Given the description of an element on the screen output the (x, y) to click on. 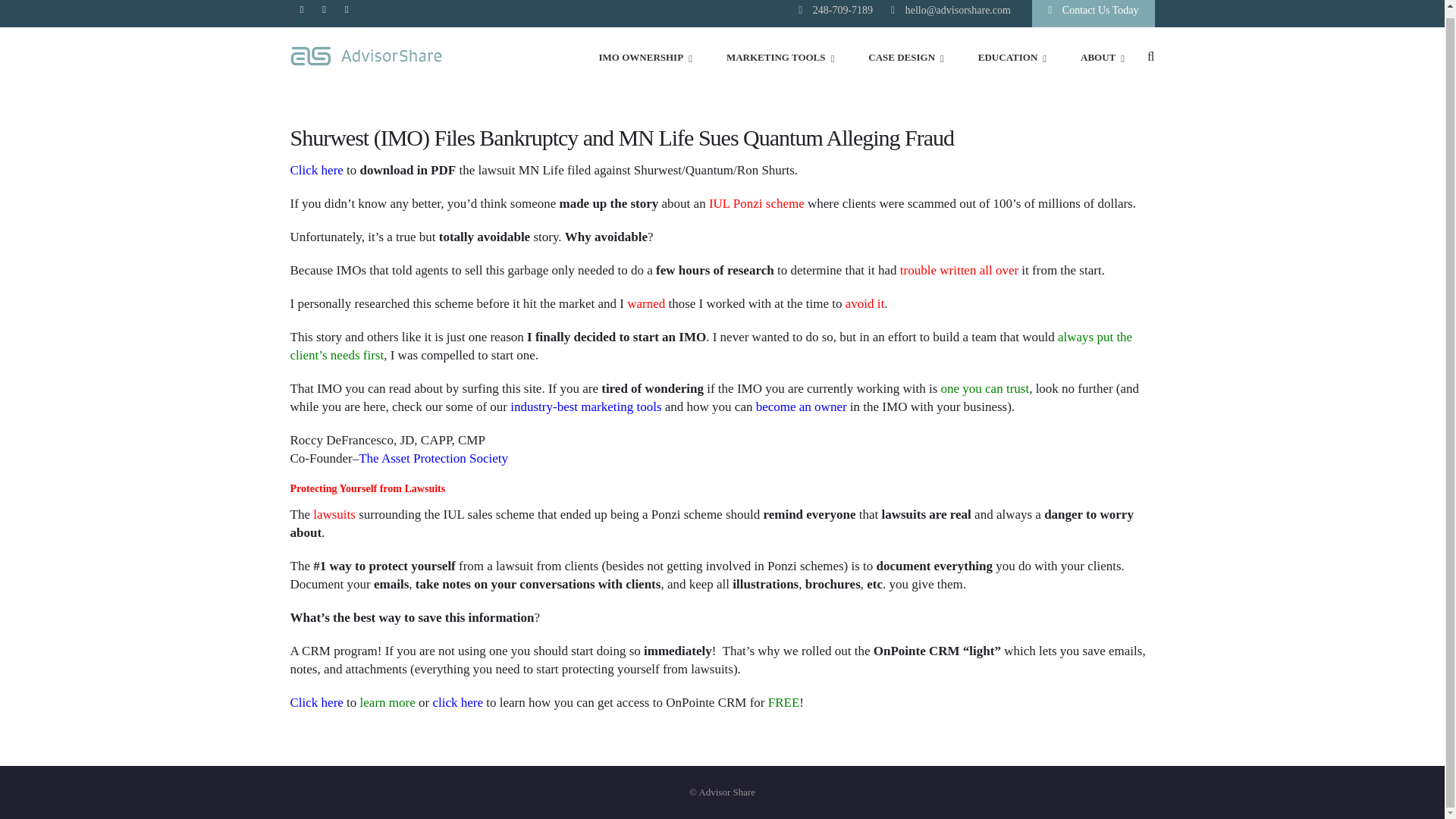
Contact Us Today (1093, 13)
CASE DESIGN (905, 56)
IMO OWNERSHIP (645, 56)
EDUCATION (1012, 56)
MARKETING TOOLS (780, 56)
